Given the description of an element on the screen output the (x, y) to click on. 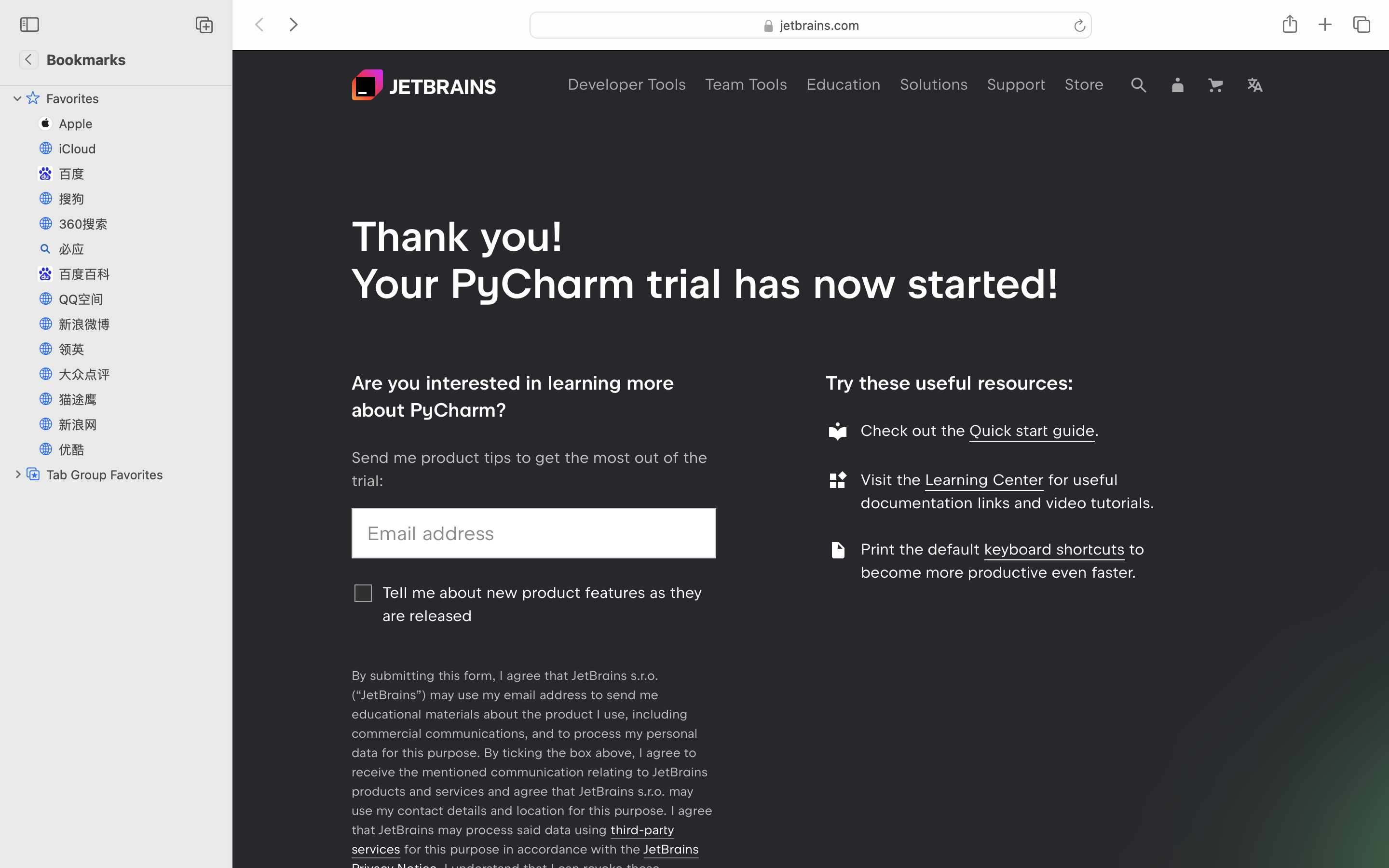
Learning Center Element type: AXStaticText (984, 479)
优酷 Element type: AXTextField (139, 449)
for this purpose in accordance with the Element type: AXStaticText (522, 848)
Tab Group Favorites Element type: AXTextField (133, 474)
Favorites Element type: AXTextField (133, 98)
